Given the description of an element on the screen output the (x, y) to click on. 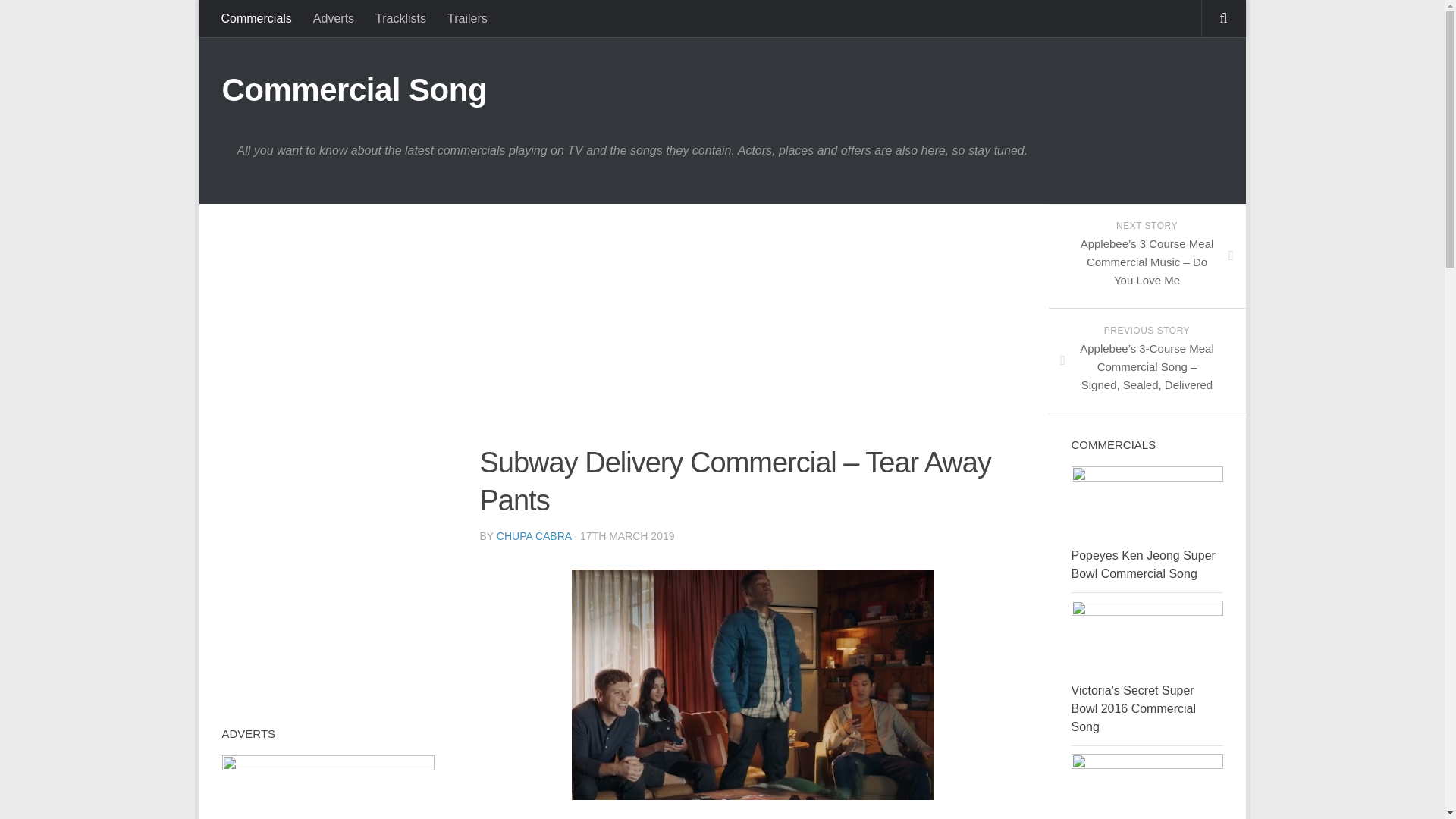
Tracklists (400, 18)
Commercial Song (353, 90)
Trailers (466, 18)
Posts by Chupa Cabra (534, 535)
CHUPA CABRA (534, 535)
British Airways Dear Britain TV Advert Opera Song (327, 787)
Popeyes Ken Jeong Super Bowl Commercial Song (1142, 563)
Commercials (256, 18)
Adverts (333, 18)
